Given the description of an element on the screen output the (x, y) to click on. 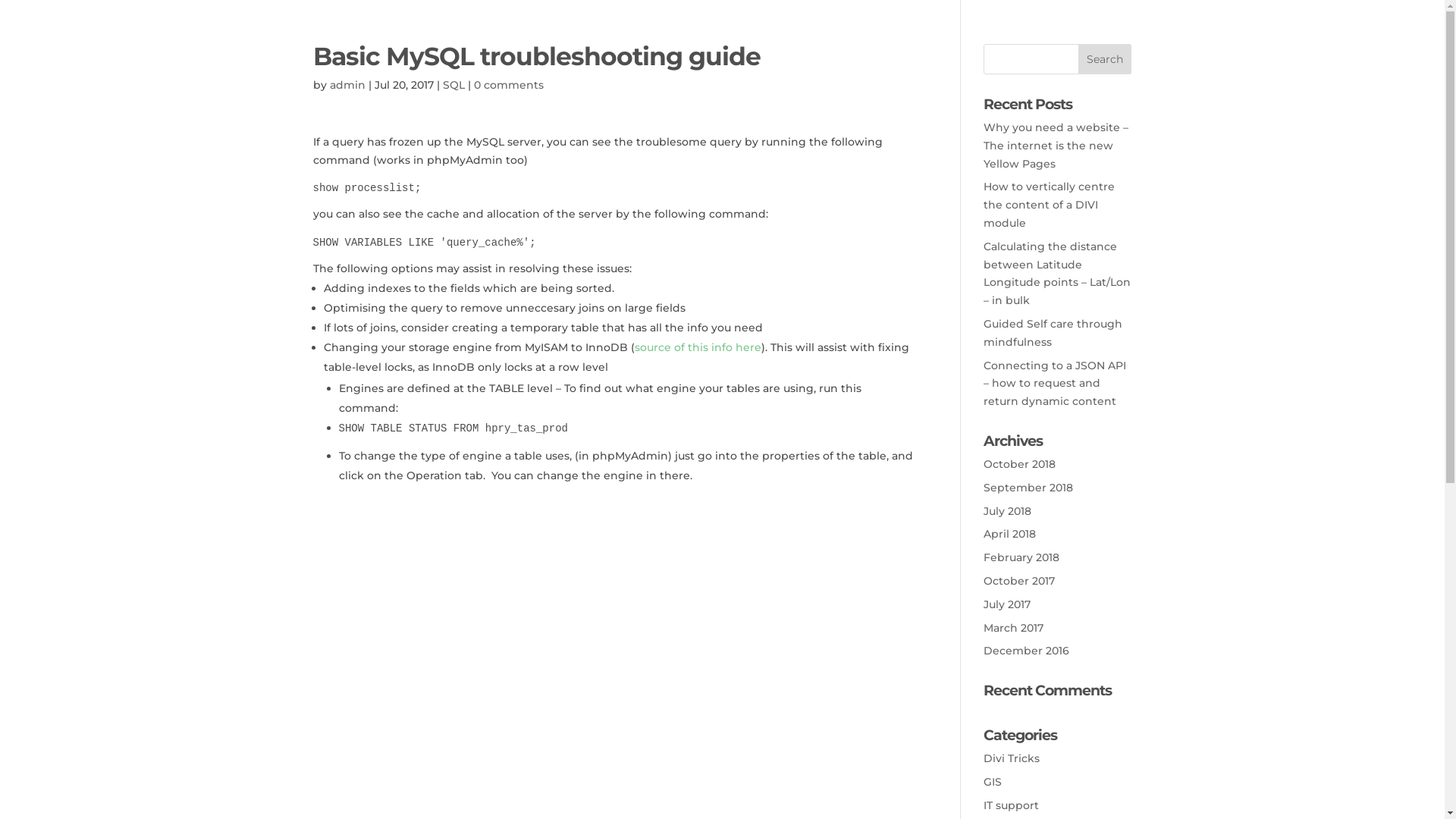
April 2018 Element type: text (1009, 533)
July 2017 Element type: text (1006, 604)
source of this info here Element type: text (696, 347)
SQL Element type: text (453, 84)
GIS Element type: text (992, 781)
July 2018 Element type: text (1007, 510)
September 2018 Element type: text (1028, 487)
Guided Self care through mindfulness Element type: text (1052, 332)
How to vertically centre the content of a DIVI module Element type: text (1048, 204)
October 2018 Element type: text (1019, 463)
December 2016 Element type: text (1026, 650)
0 comments Element type: text (507, 84)
SIGN UP! Element type: text (1385, 90)
How It Works Element type: text (1198, 90)
Divi Tricks Element type: text (1011, 758)
IT support Element type: text (1010, 805)
March 2017 Element type: text (1013, 627)
October 2017 Element type: text (1018, 580)
Search Element type: text (1104, 58)
Pricing Element type: text (1301, 90)
February 2018 Element type: text (1021, 557)
admin Element type: text (346, 84)
